Given the description of an element on the screen output the (x, y) to click on. 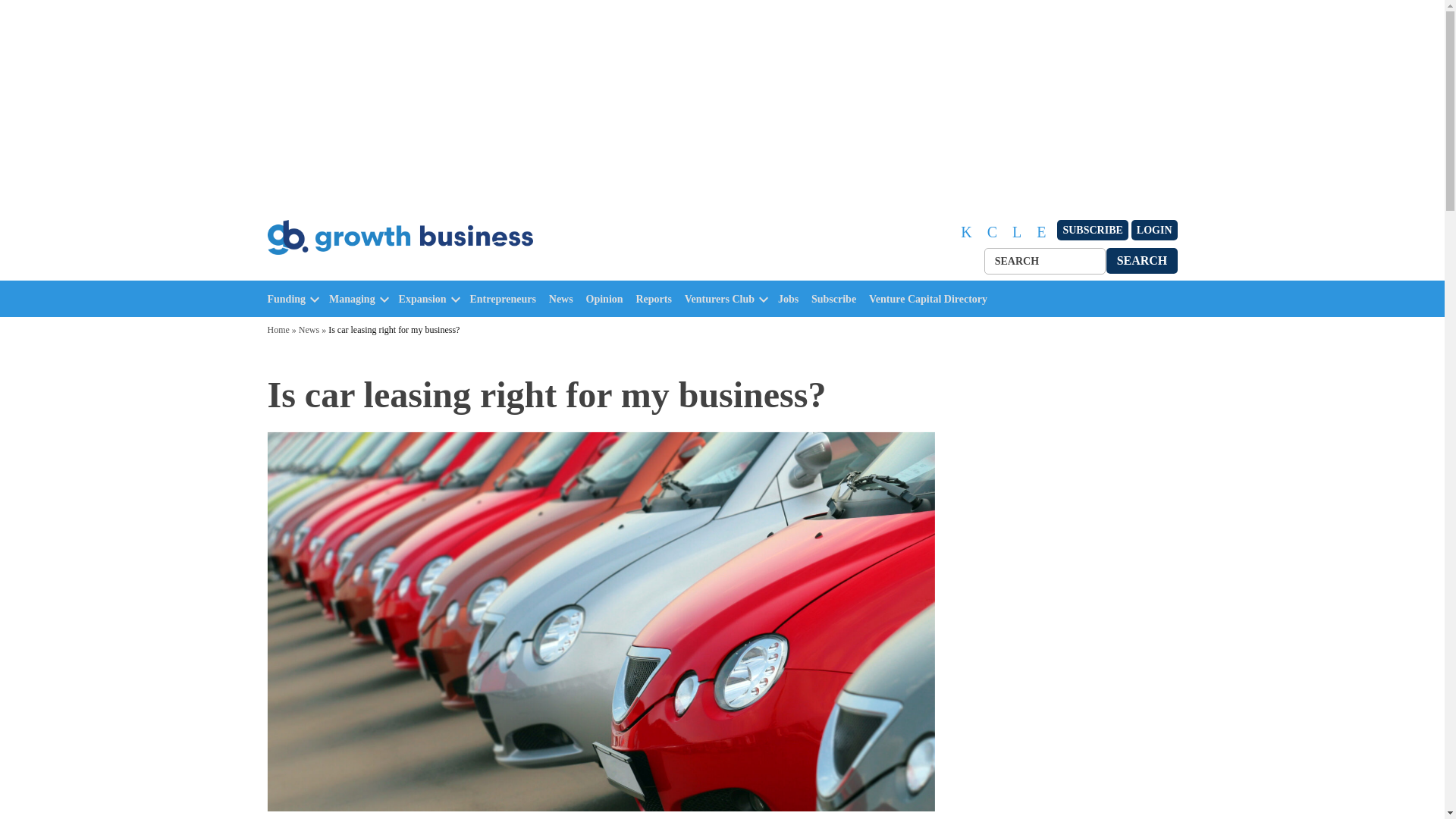
Expansion (422, 298)
SEARCH (1142, 260)
Opinion (608, 298)
News (564, 298)
Growth Business (332, 271)
Managing (352, 298)
Reports (656, 298)
SUBSCRIBE (1091, 230)
Entrepreneurs (506, 298)
LOGIN (1154, 230)
Funding (285, 298)
